Given the description of an element on the screen output the (x, y) to click on. 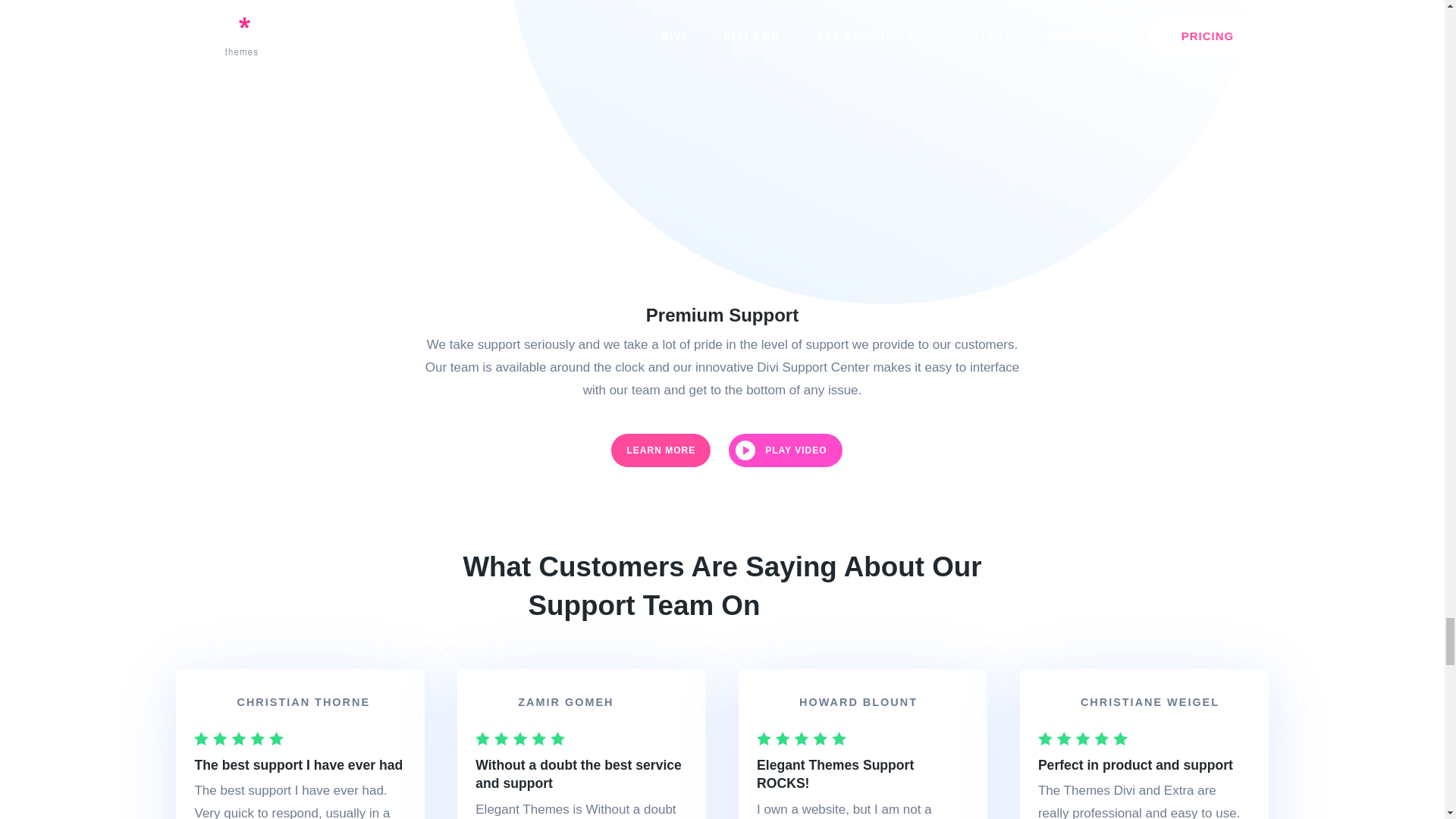
Review Rating (801, 738)
Review Rating (238, 738)
Review Rating (1082, 738)
Review Rating (520, 738)
